Given the description of an element on the screen output the (x, y) to click on. 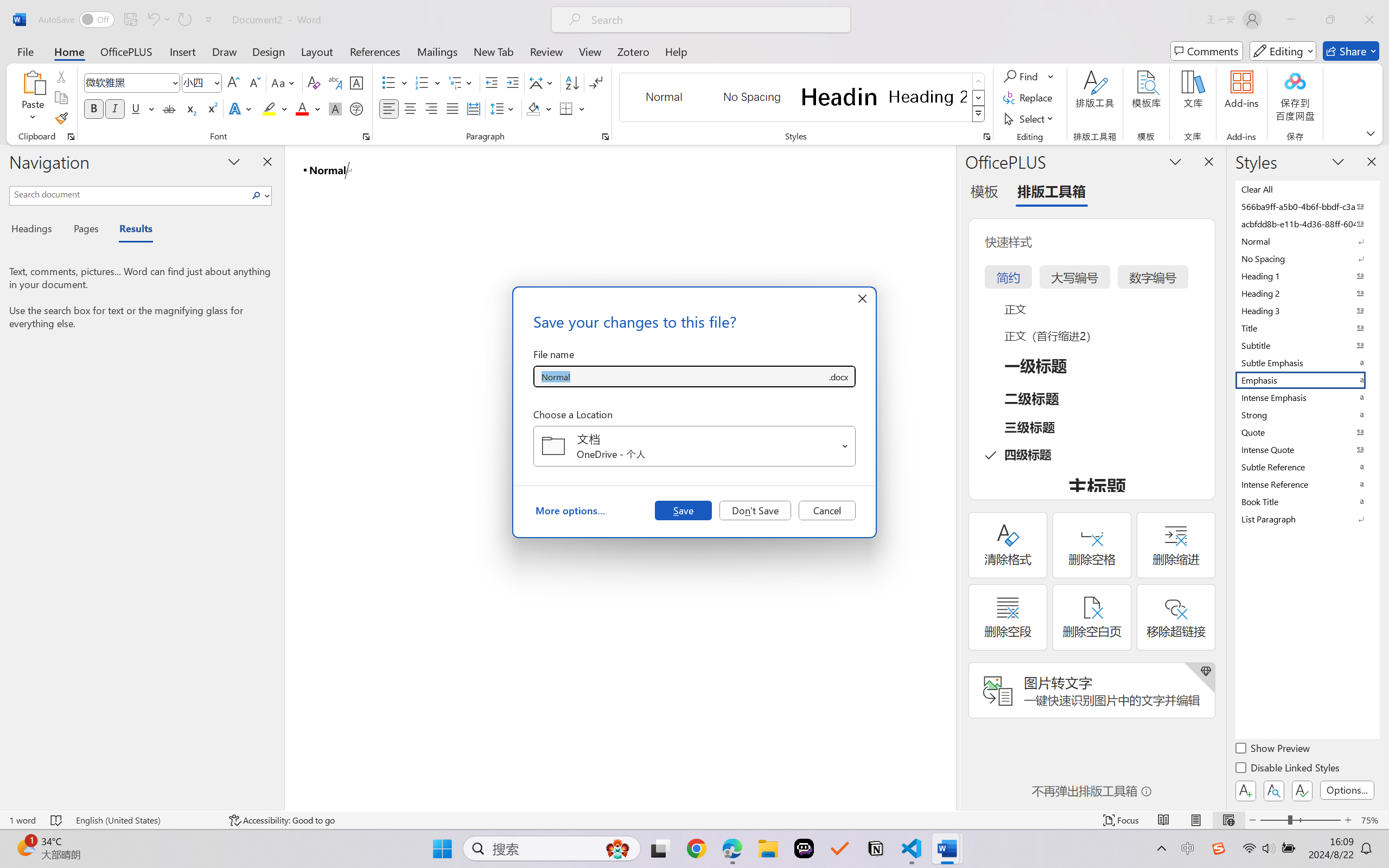
Accessibility Checker Accessibility: Good to go (282, 819)
Search (259, 195)
Search (256, 195)
Underline (135, 108)
Heading 1 (839, 96)
Open (844, 446)
566ba9ff-a5b0-4b6f-bbdf-c3ab41993fc2 (1306, 206)
Insert (182, 51)
Font (126, 82)
Show Preview (1273, 749)
Increase Indent (512, 82)
Read Mode (1163, 819)
Font Color (308, 108)
